Given the description of an element on the screen output the (x, y) to click on. 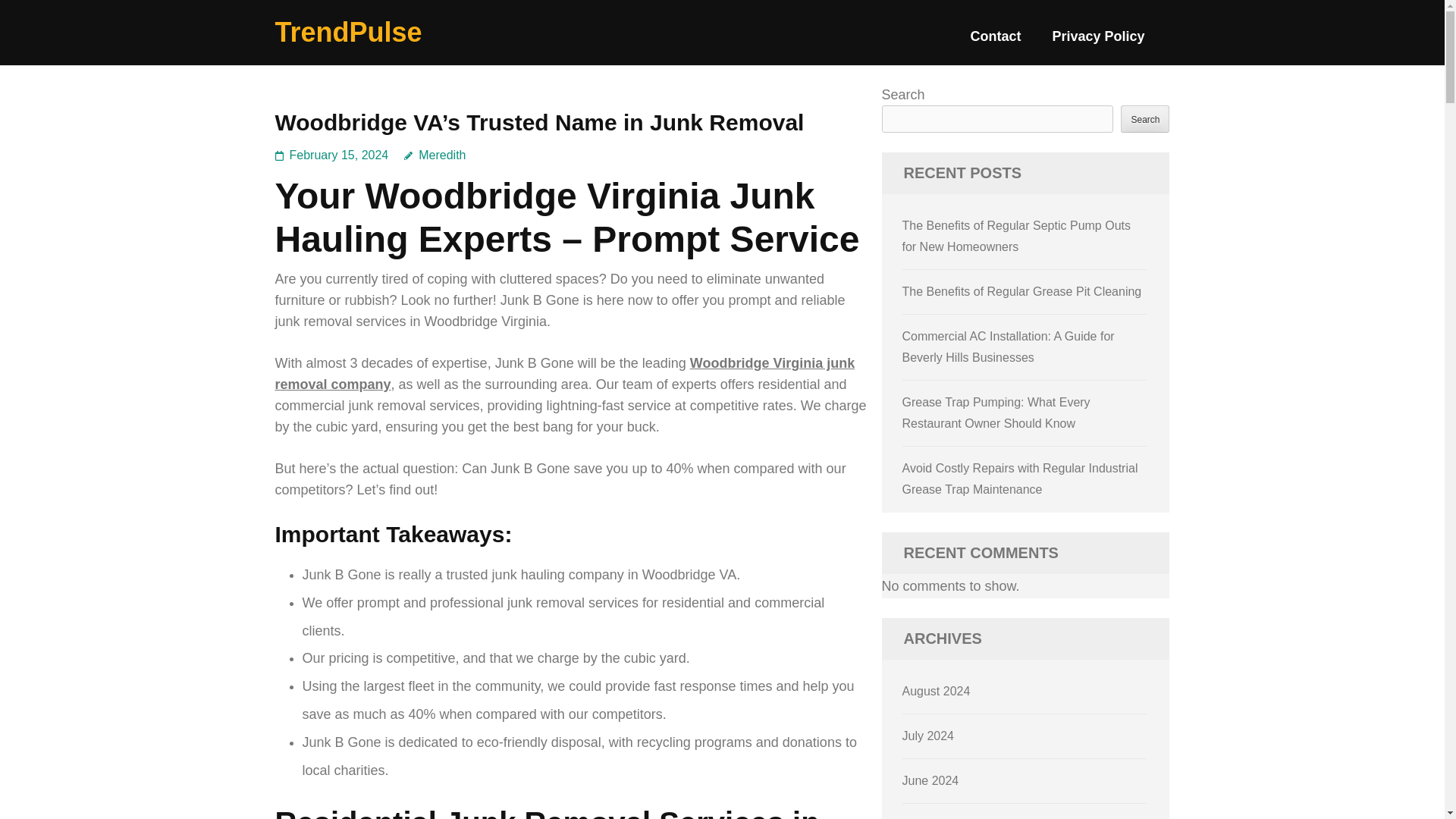
Grease Trap Pumping: What Every Restaurant Owner Should Know (996, 412)
Contact (994, 42)
Privacy Policy (1097, 42)
TrendPulse (348, 31)
July 2024 (928, 735)
June 2024 (930, 780)
August 2024 (936, 690)
February 15, 2024 (338, 154)
Woodbridge Virginia junk removal company (564, 373)
Search (1145, 118)
The Benefits of Regular Grease Pit Cleaning (1021, 291)
Meredith (434, 154)
The Benefits of Regular Septic Pump Outs for New Homeowners (1016, 236)
